Given the description of an element on the screen output the (x, y) to click on. 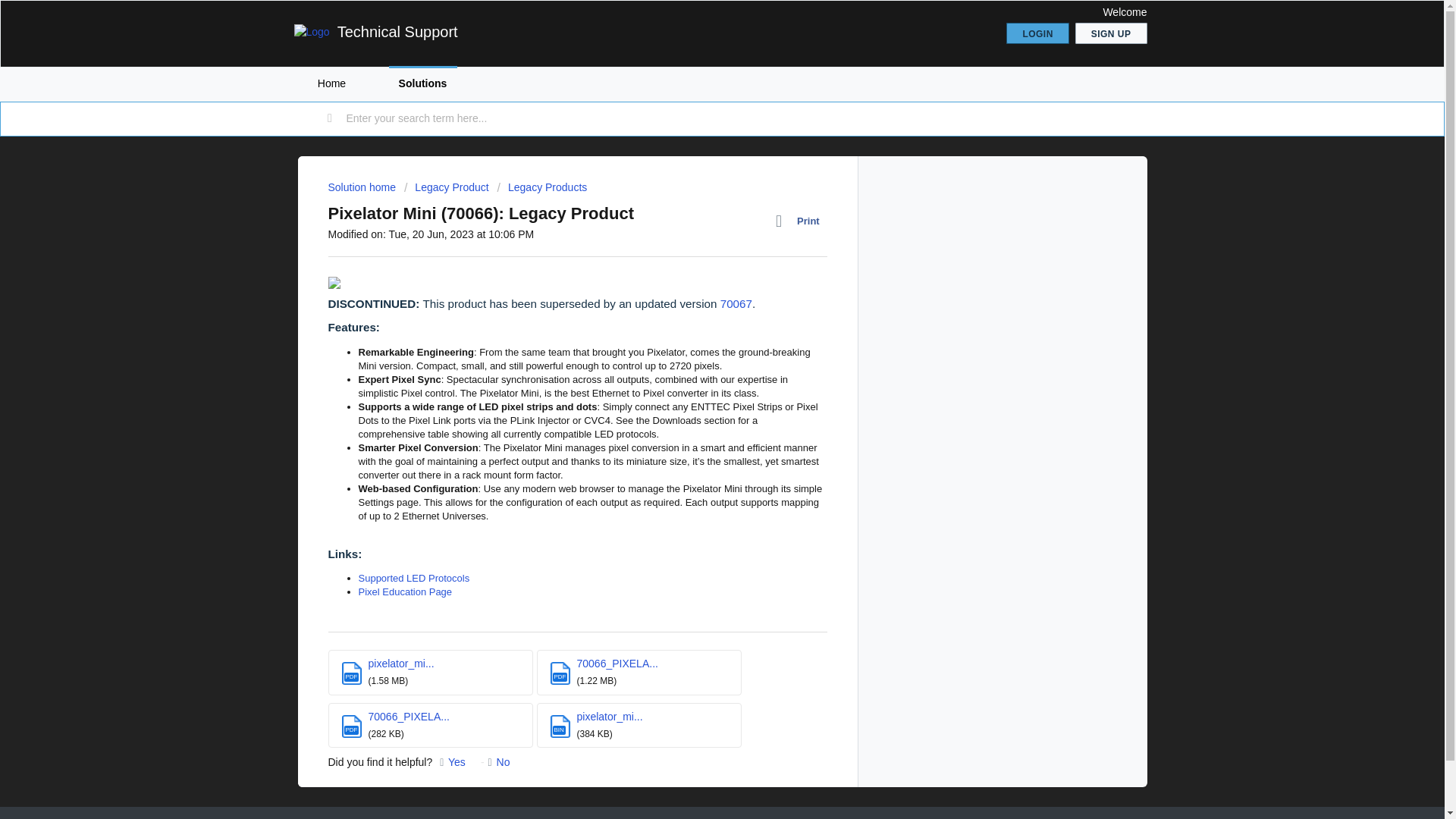
70067 (736, 303)
Solutions (422, 83)
Legacy Products (542, 186)
Print this Article (801, 220)
Home (331, 83)
LOGIN (1037, 33)
Legacy Product (446, 186)
Solution home (362, 186)
Print (801, 220)
Pixel Education Page (404, 591)
Supported LED Protocols (413, 577)
SIGN UP (1111, 33)
